Given the description of an element on the screen output the (x, y) to click on. 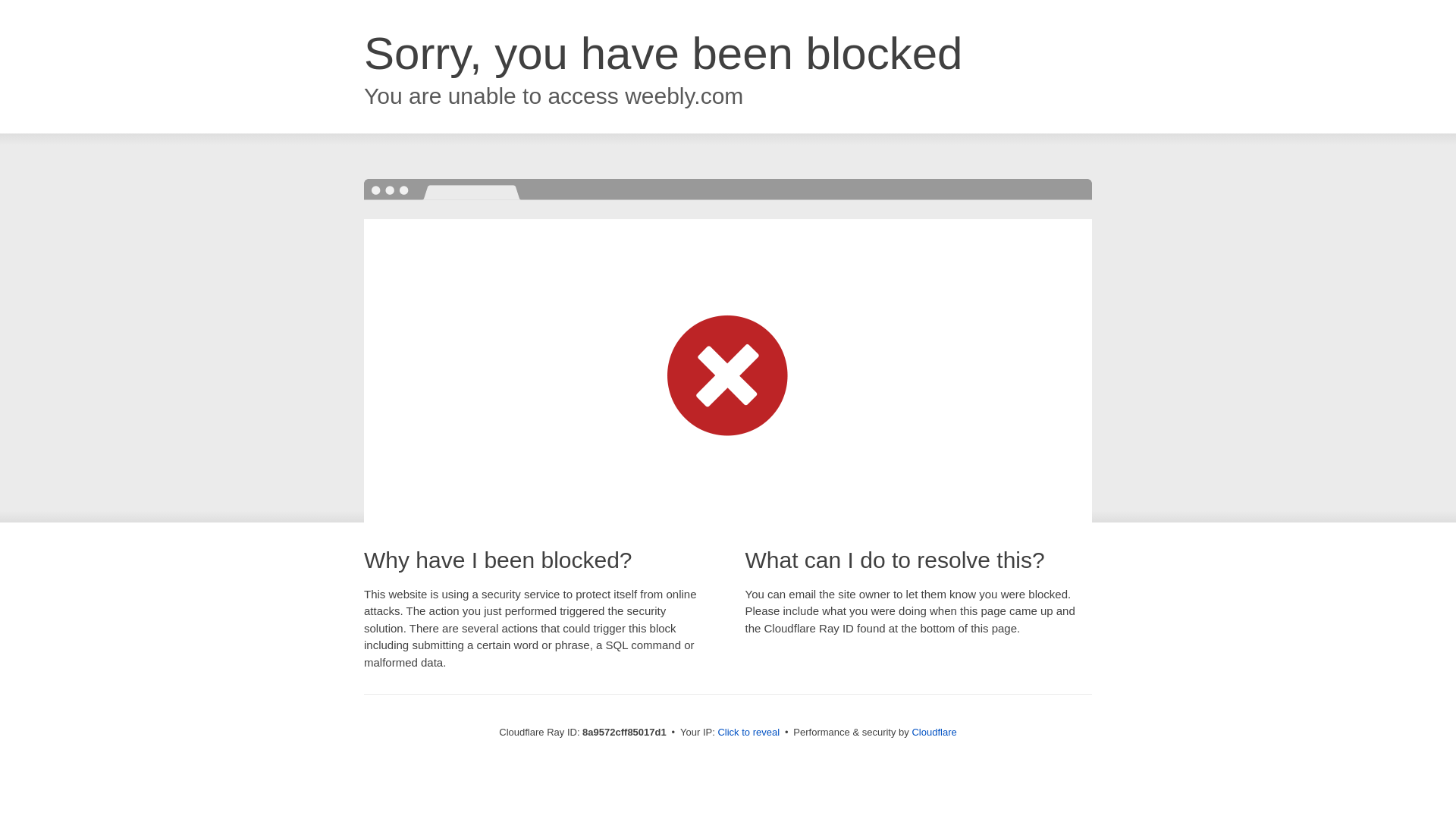
Cloudflare (933, 731)
Click to reveal (747, 732)
